Given the description of an element on the screen output the (x, y) to click on. 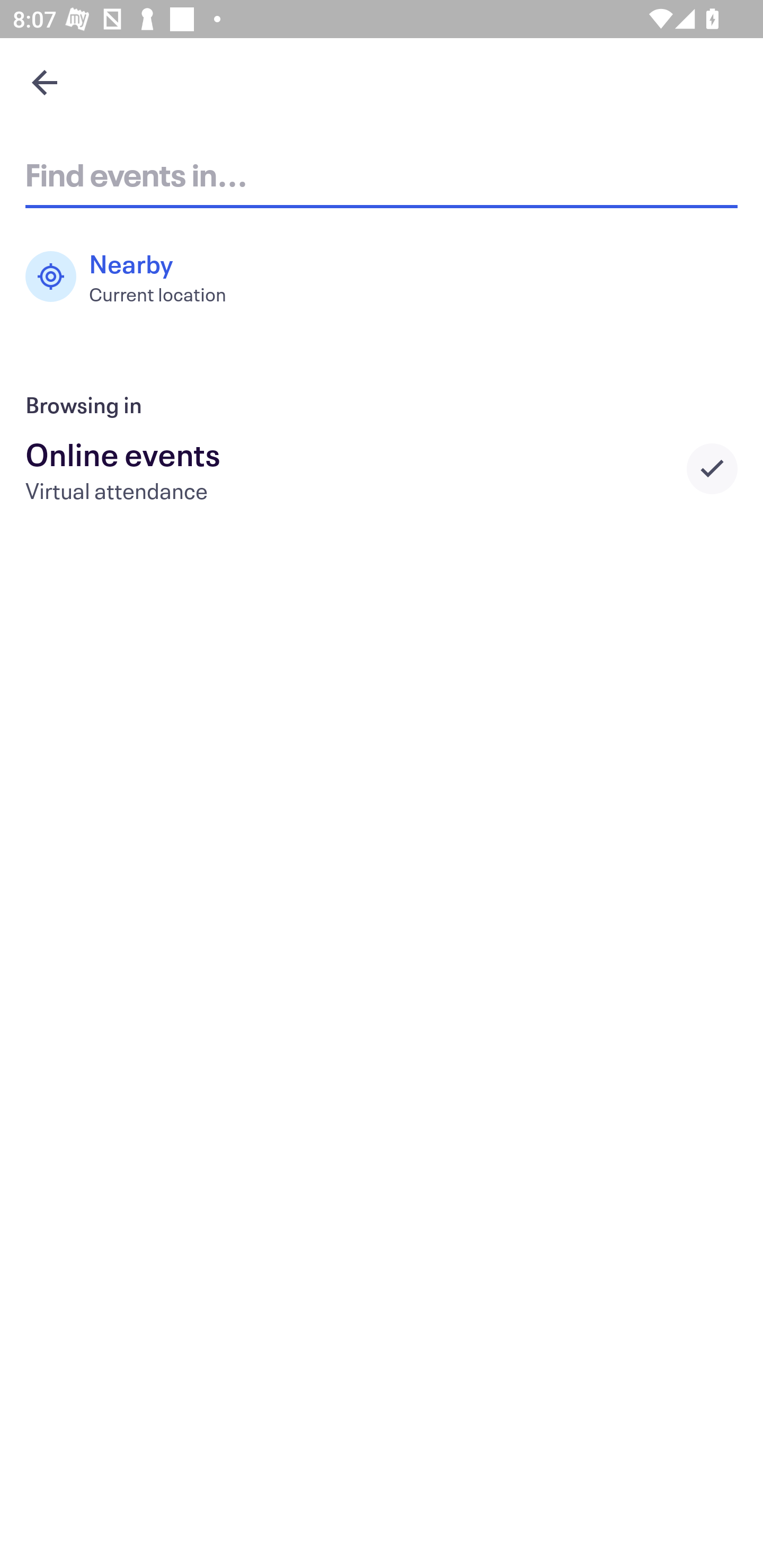
Navigate up (44, 82)
Find events in... (381, 173)
Nearby Current location (135, 276)
Online events Virtual attendance Selected city (381, 468)
